Given the description of an element on the screen output the (x, y) to click on. 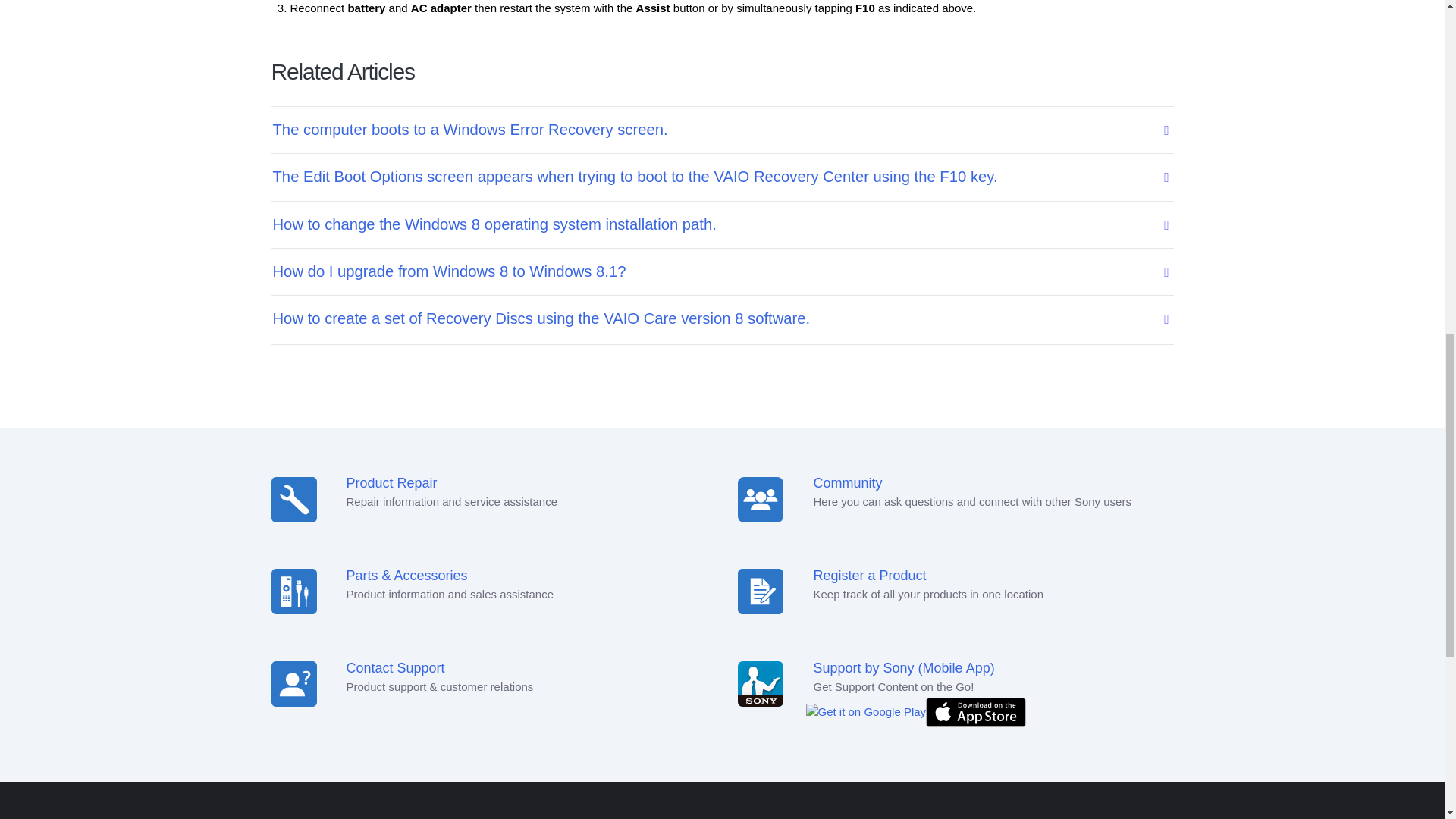
The computer boots to a Windows Error Recovery screen. (712, 129)
How do I upgrade from Windows 8 to Windows 8.1? (712, 271)
